Given the description of an element on the screen output the (x, y) to click on. 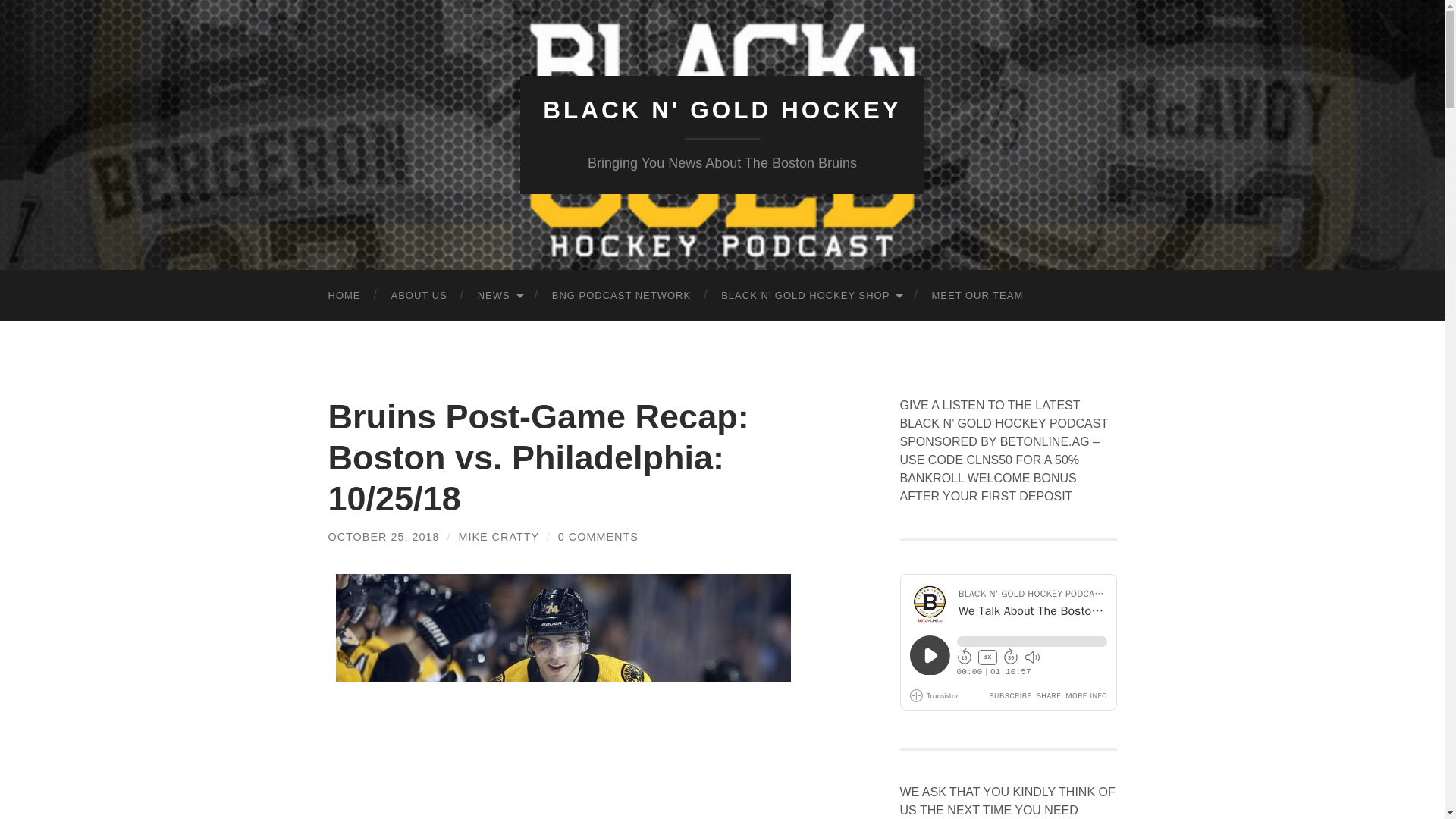
MIKE CRATTY (498, 536)
NEWS (500, 295)
BLACK N' GOLD HOCKEY (722, 109)
MEET OUR TEAM (976, 295)
OCTOBER 25, 2018 (383, 536)
ABOUT US (419, 295)
BNG PODCAST NETWORK (621, 295)
0 COMMENTS (598, 536)
Posts by Mike Cratty (498, 536)
HOME (344, 295)
